Given the description of an element on the screen output the (x, y) to click on. 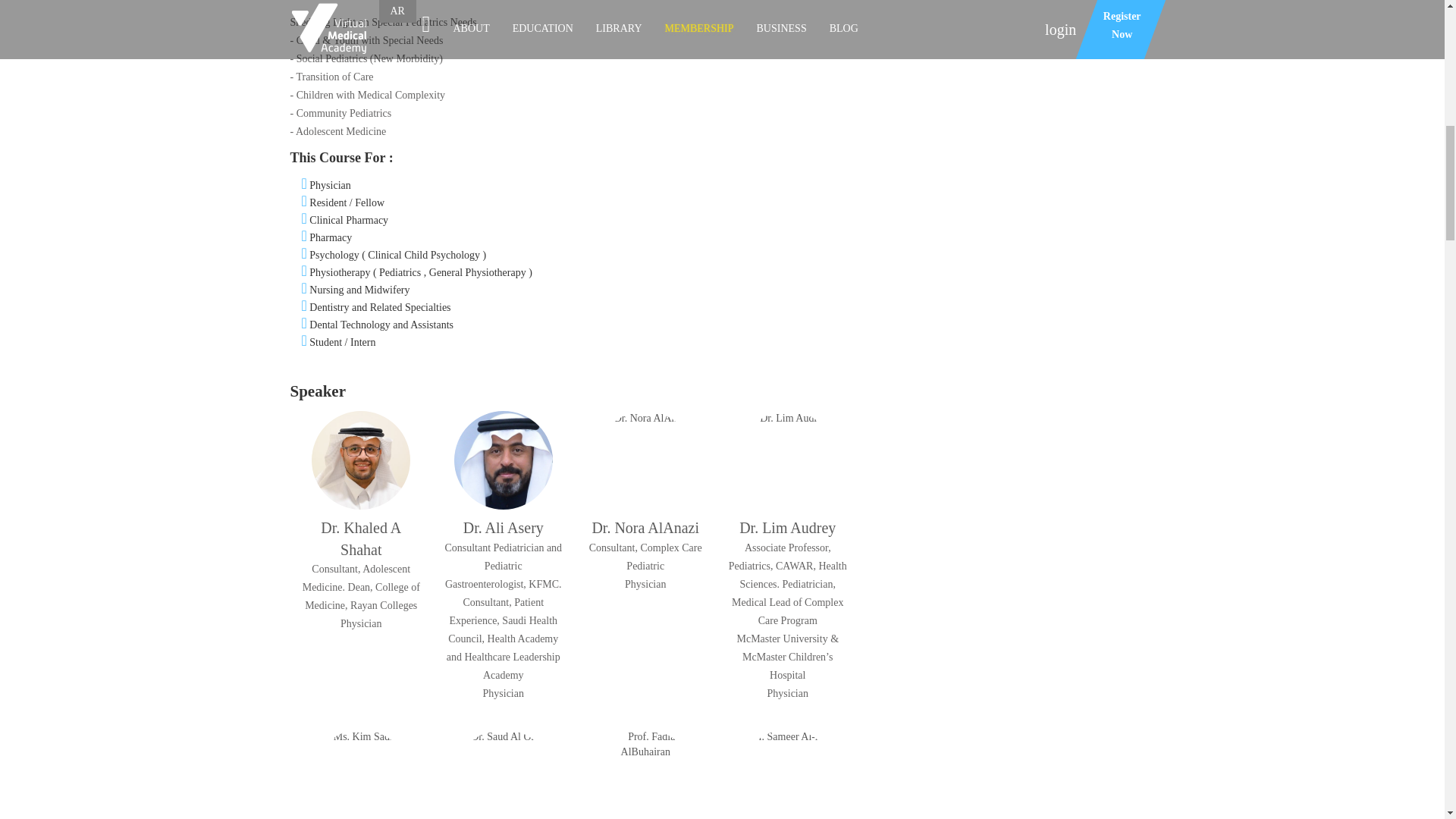
Prof. Fadia AlBuhairan (644, 774)
Dr. Saud Al Omar (503, 774)
Dr. Sameer Al-Abdi (787, 774)
Dr. Nora AlAnazi (644, 460)
Dr. Khaled A Shahat (360, 460)
Dr. Ali Asery (503, 460)
Dr. Lim Audrey (787, 460)
Ms. Kim Sadler (360, 774)
